Given the description of an element on the screen output the (x, y) to click on. 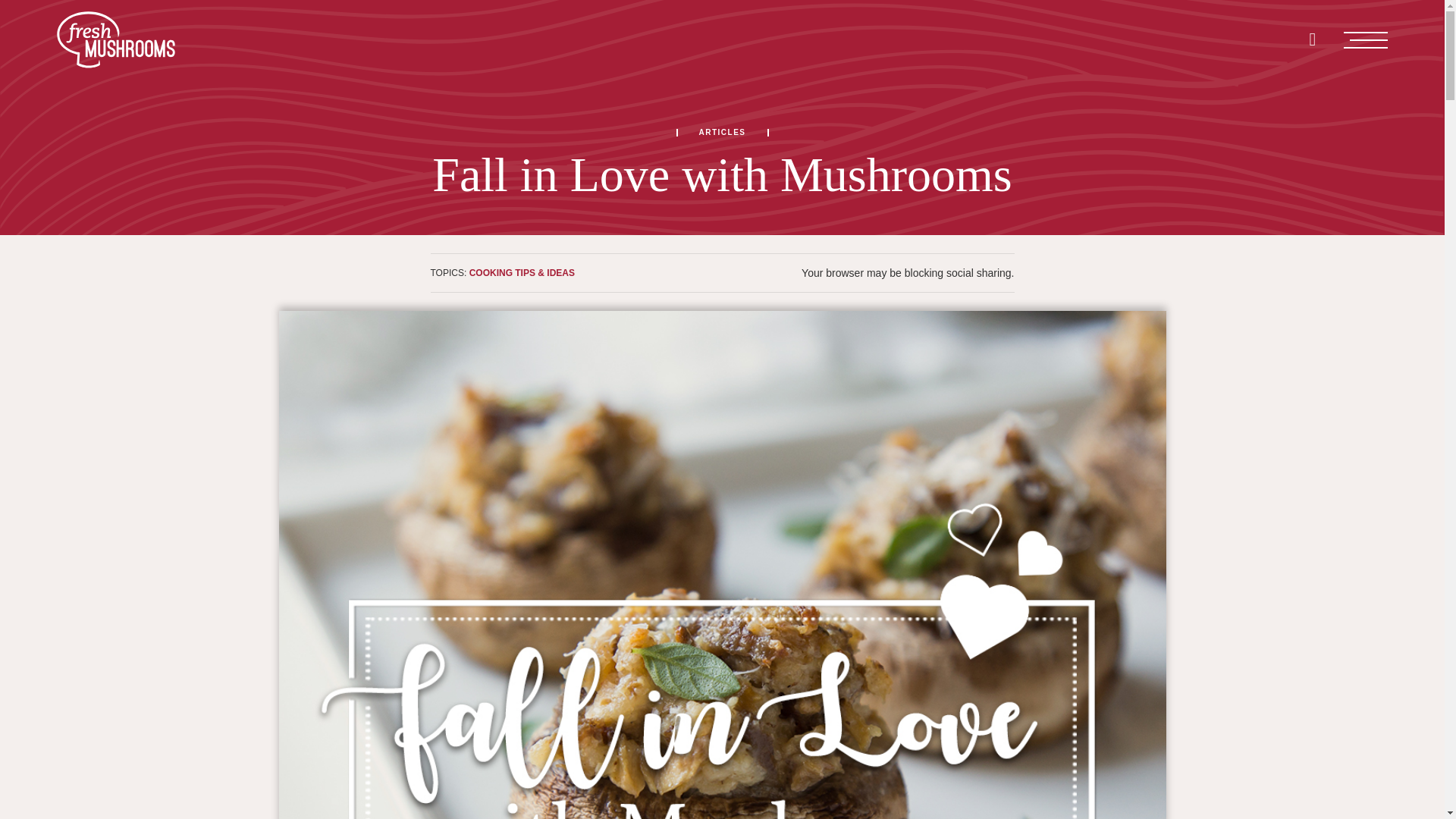
Menu (1365, 40)
Go to the Mushroom Council home page (115, 39)
Toggle Search (1312, 39)
